Given the description of an element on the screen output the (x, y) to click on. 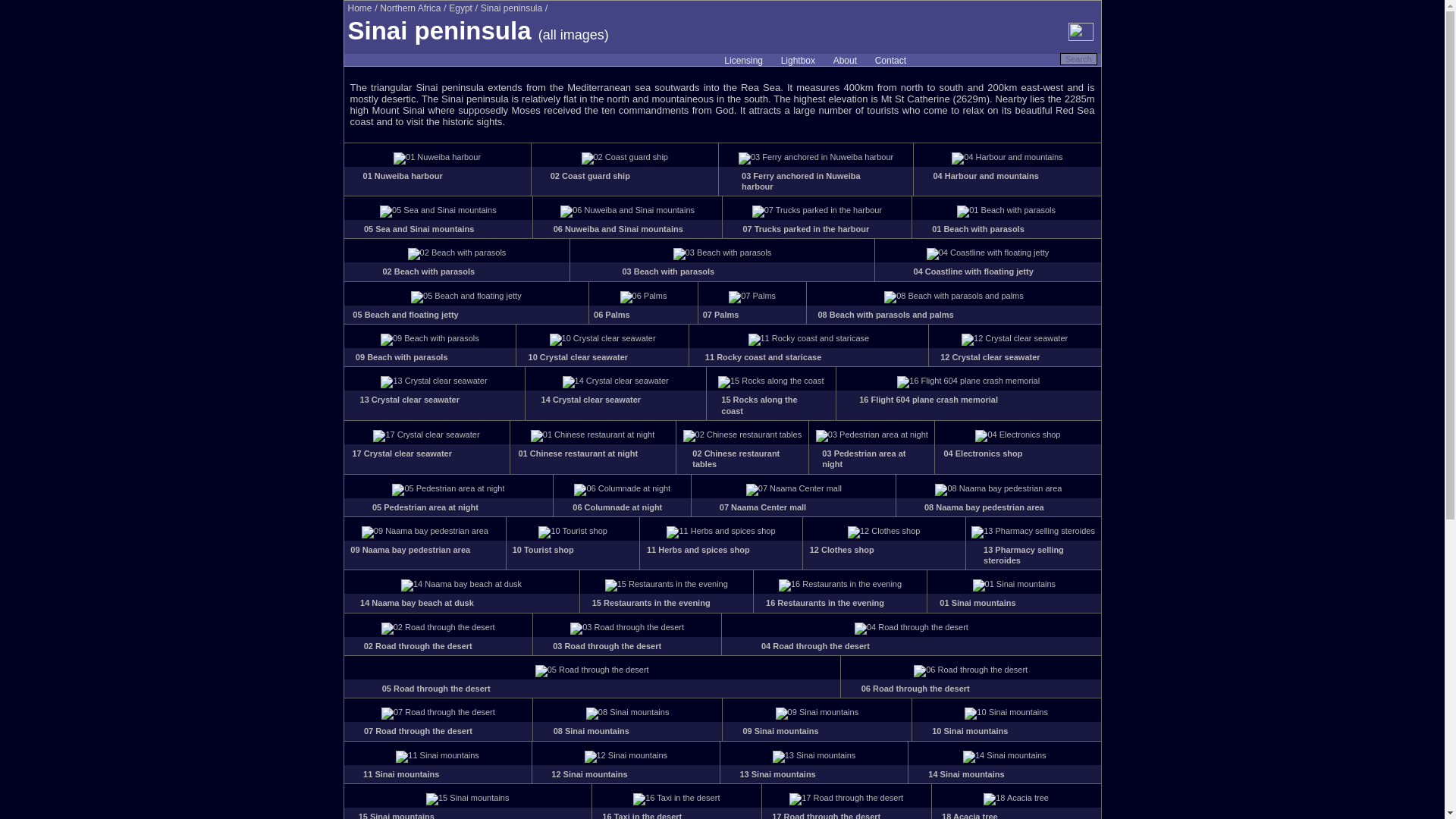
02 Coast guard ship (590, 175)
Image EG54241 - click to enlarge (456, 252)
06 Palms (612, 314)
Search (1078, 59)
Image EG54214 - click to enlarge (623, 156)
04 Harbour and mountains (985, 175)
Image EG54240 - click to enlarge (1005, 209)
Contact (890, 60)
Image EG54213 - click to enlarge (436, 156)
Search (1078, 59)
Image EG54244 - click to enlarge (465, 295)
07 Palms (721, 314)
Northern Africa (410, 8)
07 Trucks parked in the harbour (805, 228)
Image EG54218 - click to enlarge (627, 209)
